Given the description of an element on the screen output the (x, y) to click on. 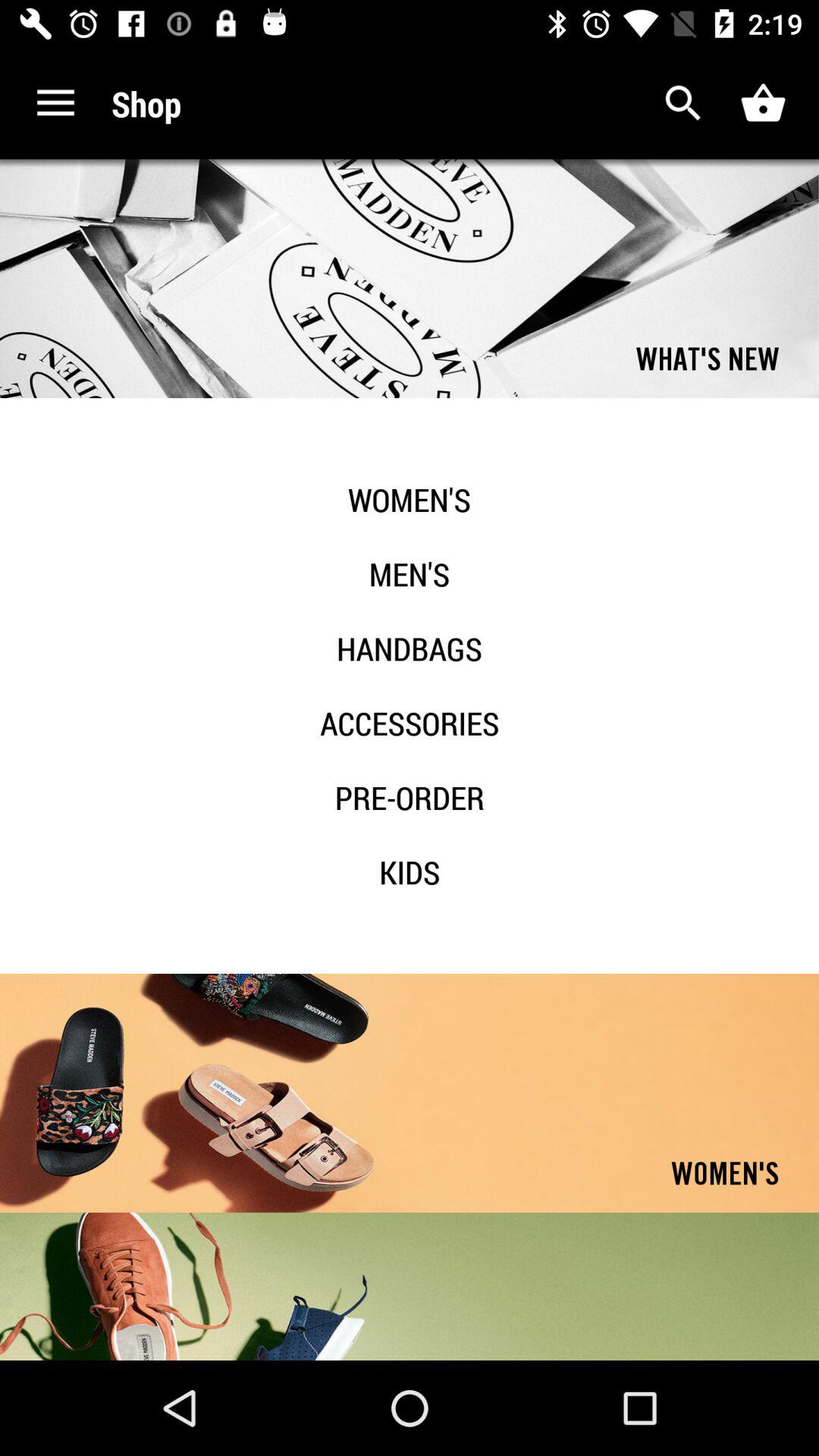
open search (683, 103)
